Given the description of an element on the screen output the (x, y) to click on. 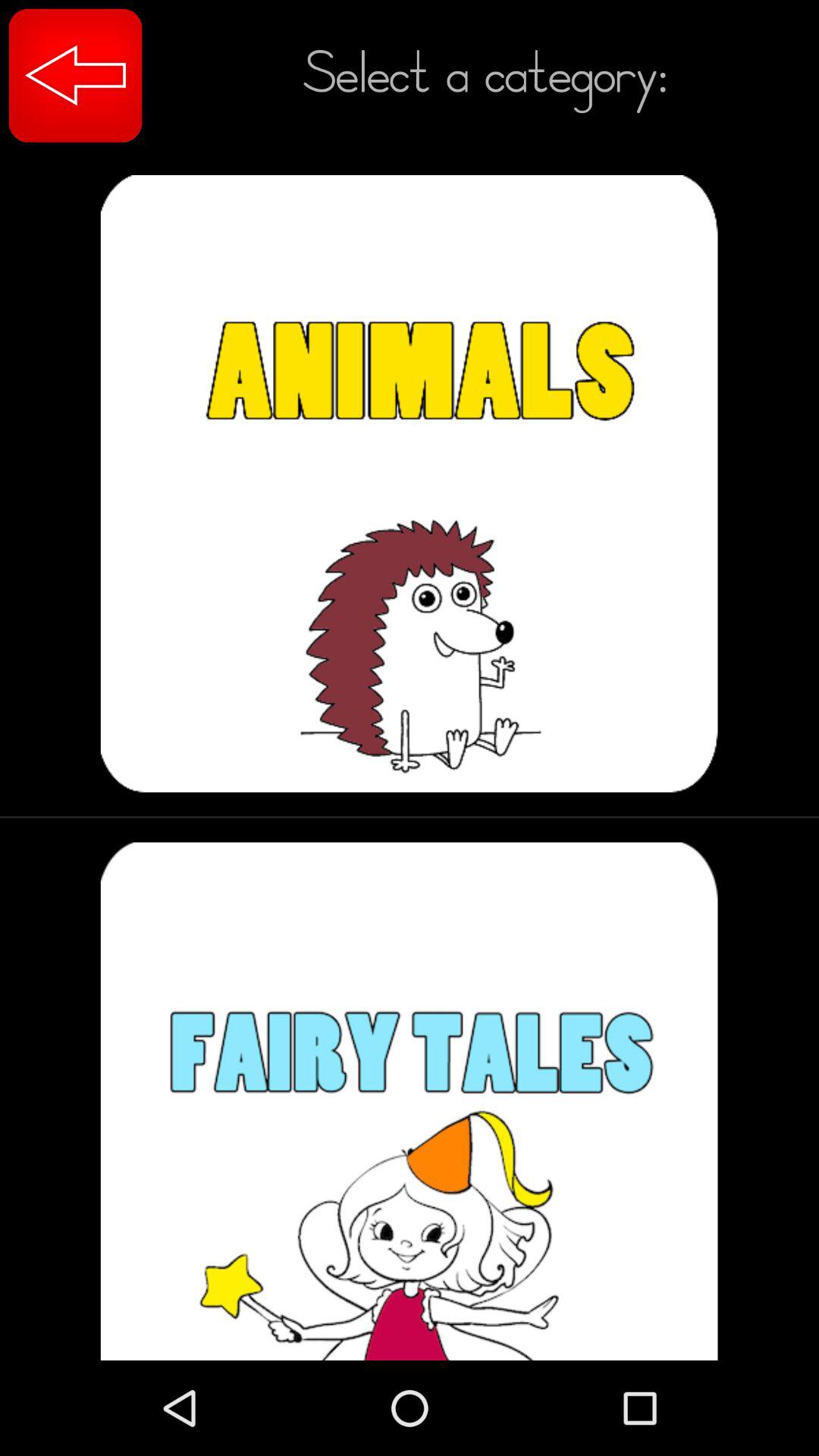
choose icon at the top left corner (75, 75)
